Given the description of an element on the screen output the (x, y) to click on. 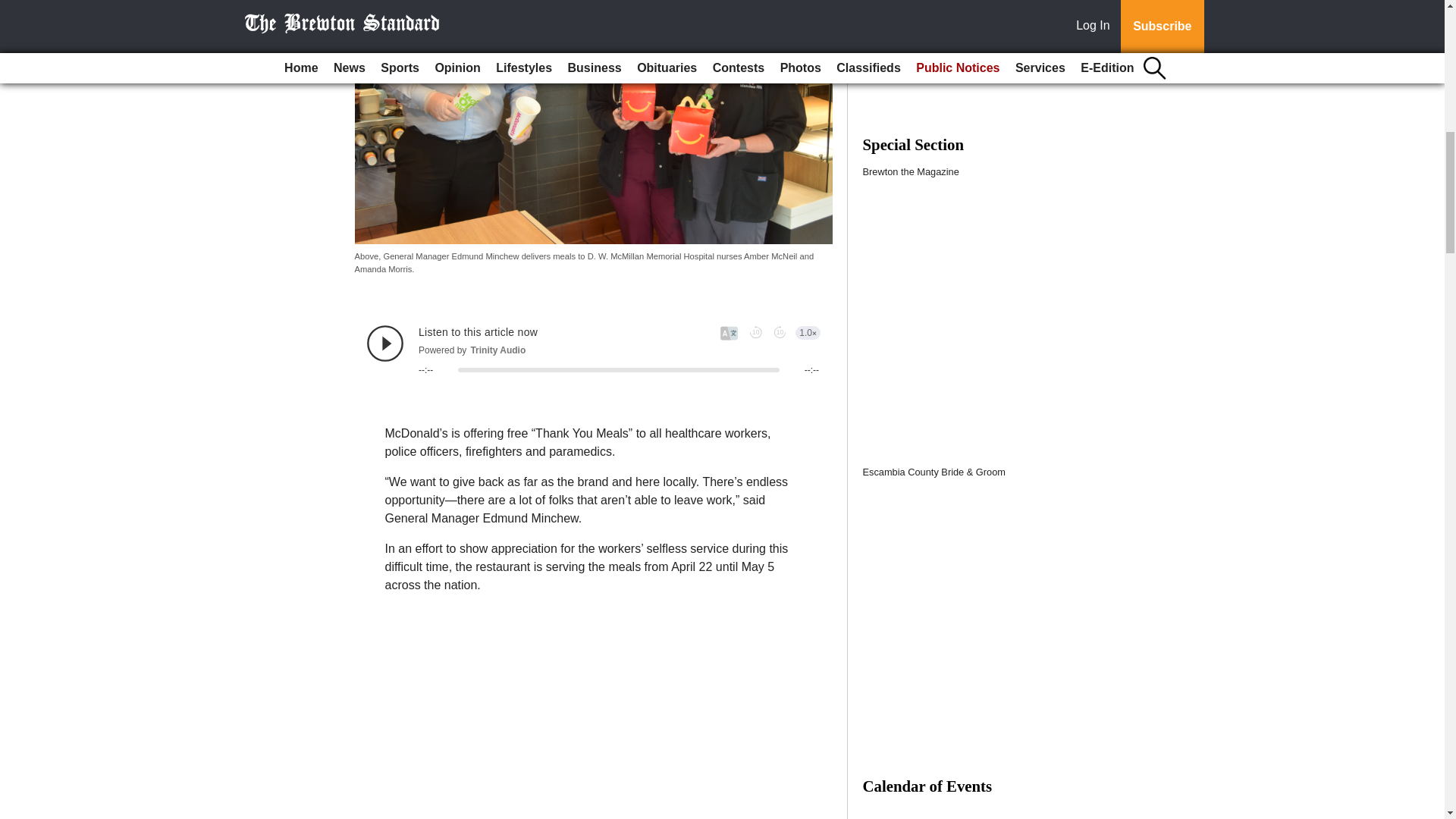
Trinity Audio Player (592, 350)
